Given the description of an element on the screen output the (x, y) to click on. 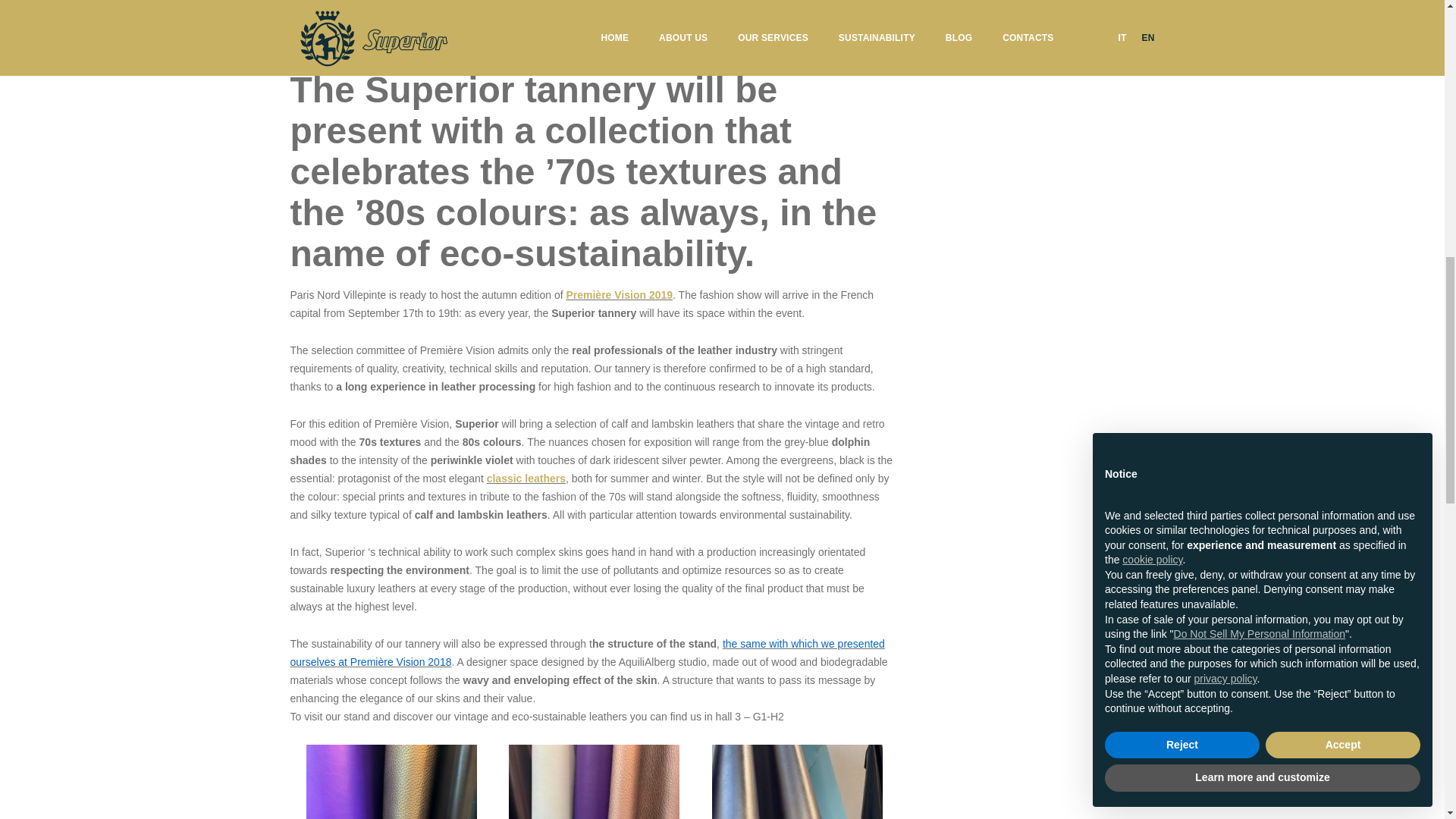
classic leathers (526, 478)
